Given the description of an element on the screen output the (x, y) to click on. 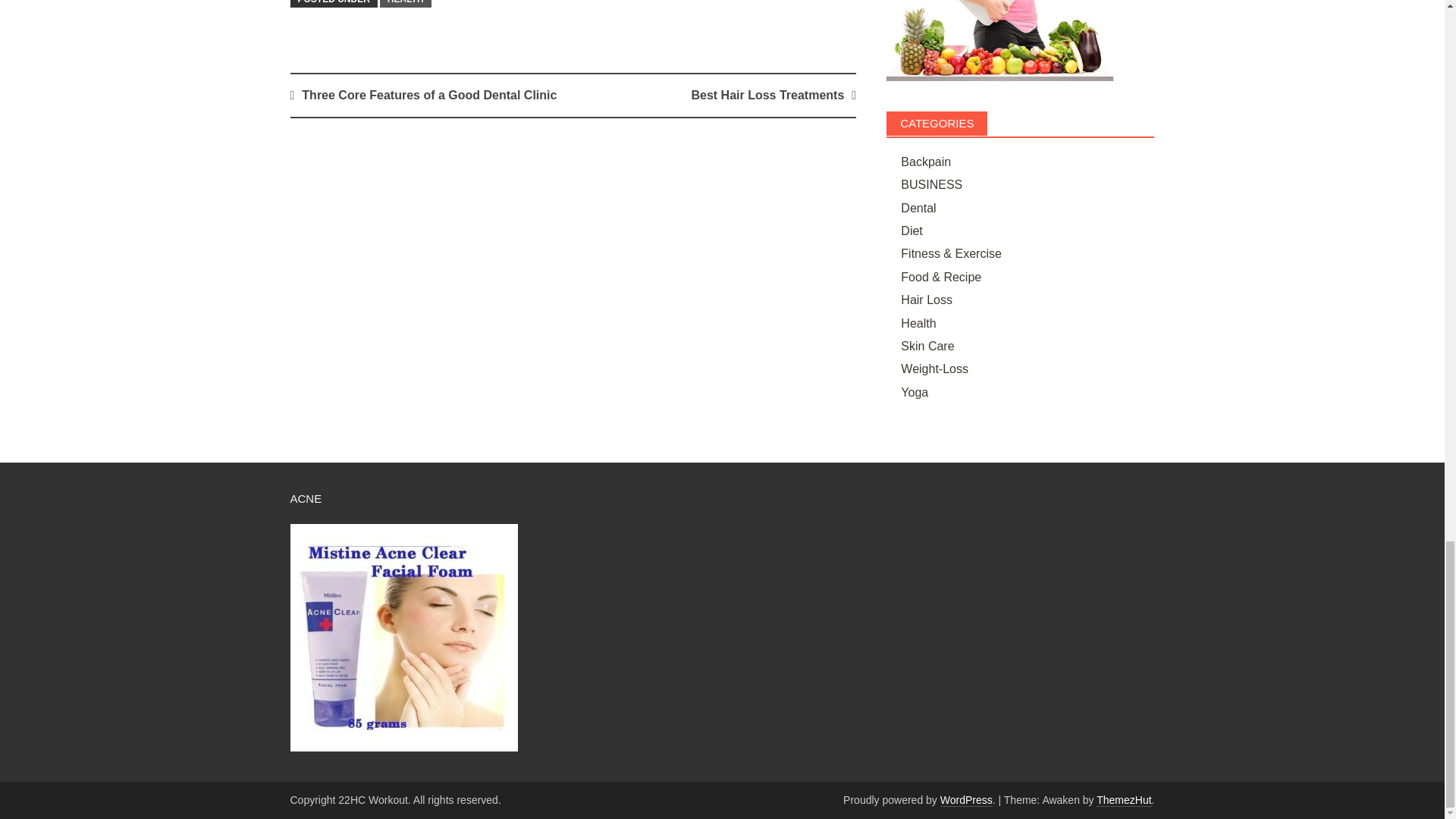
WordPress (966, 799)
Best Hair Loss Treatments (767, 94)
HEALTH (405, 3)
Three Core Features of a Good Dental Clinic (428, 94)
